Given the description of an element on the screen output the (x, y) to click on. 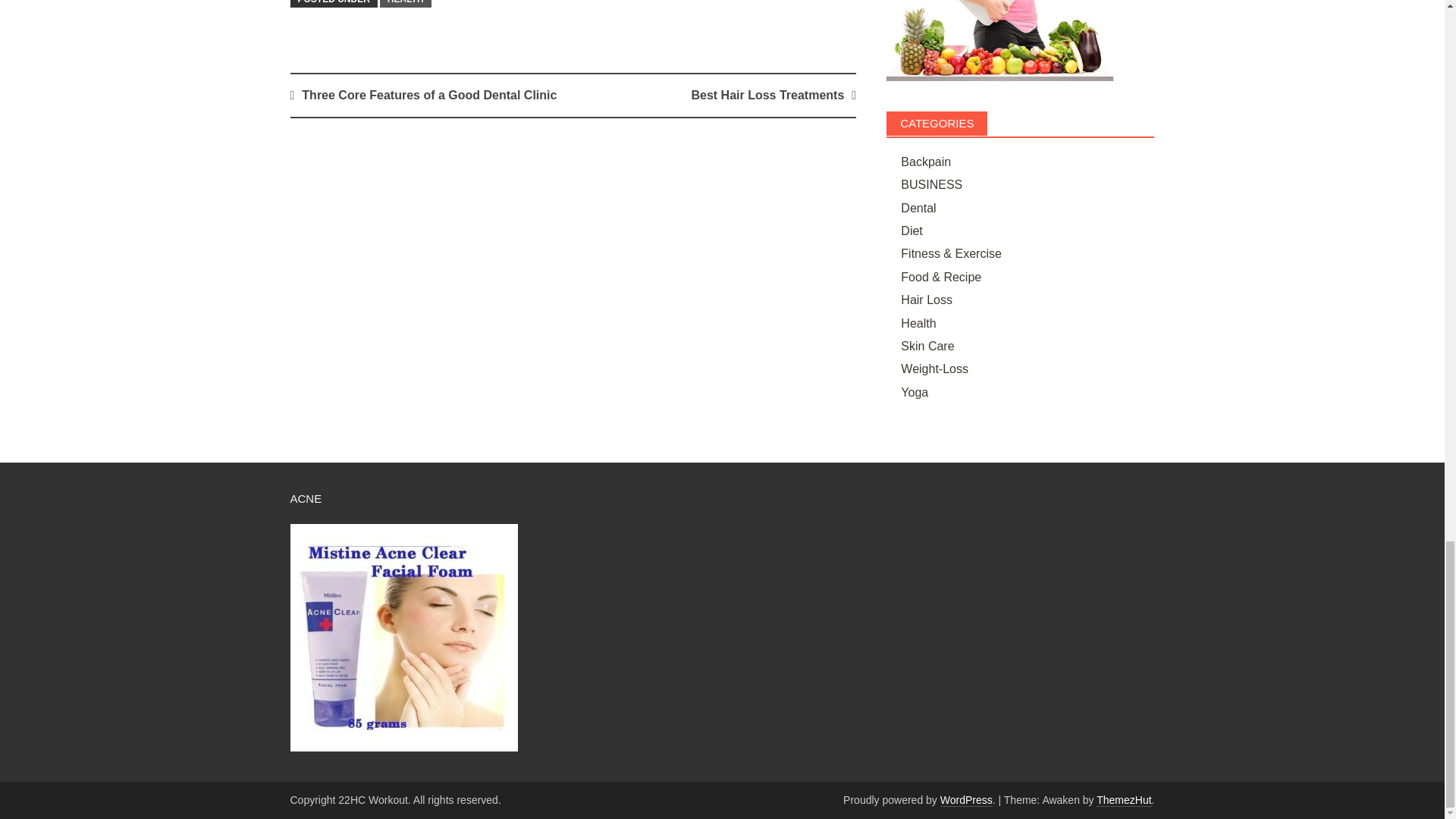
WordPress (966, 799)
Best Hair Loss Treatments (767, 94)
HEALTH (405, 3)
Three Core Features of a Good Dental Clinic (428, 94)
